Given the description of an element on the screen output the (x, y) to click on. 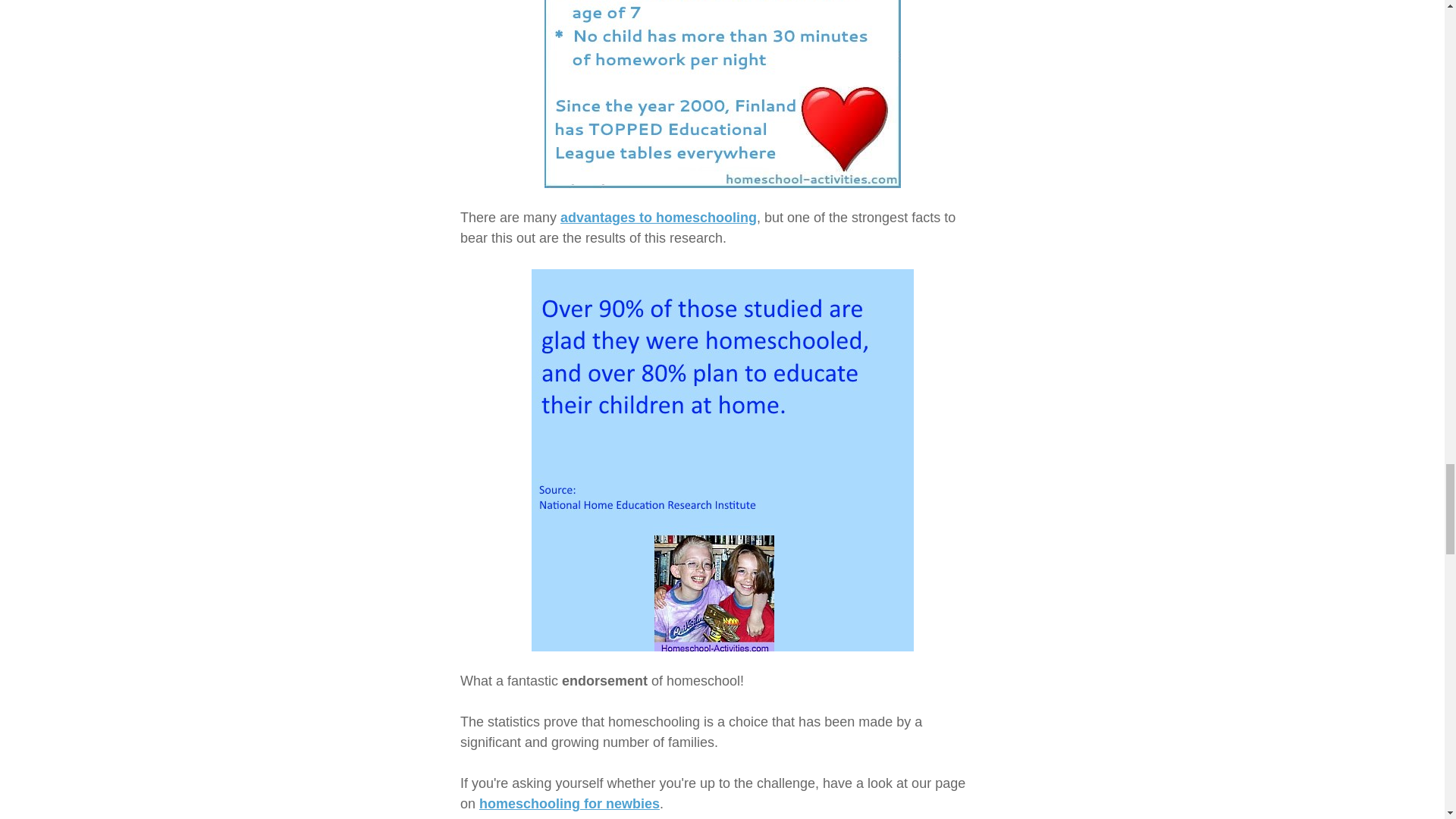
education in Finland (722, 94)
